Given the description of an element on the screen output the (x, y) to click on. 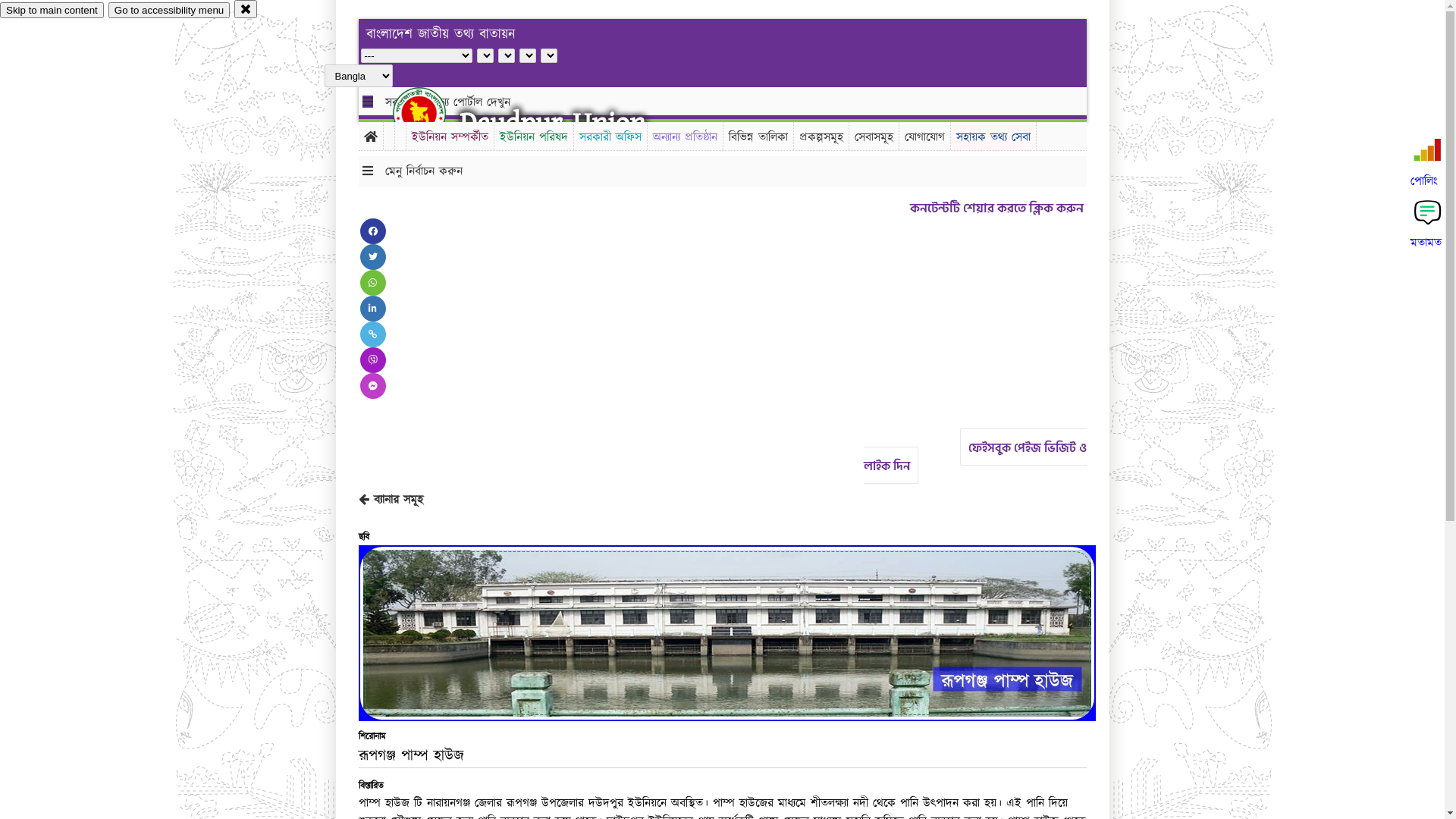

                
             Element type: hover (431, 112)
Skip to main content Element type: text (51, 10)
Daudpur Union Element type: text (552, 123)
Go to accessibility menu Element type: text (168, 10)
close Element type: hover (245, 9)
